Given the description of an element on the screen output the (x, y) to click on. 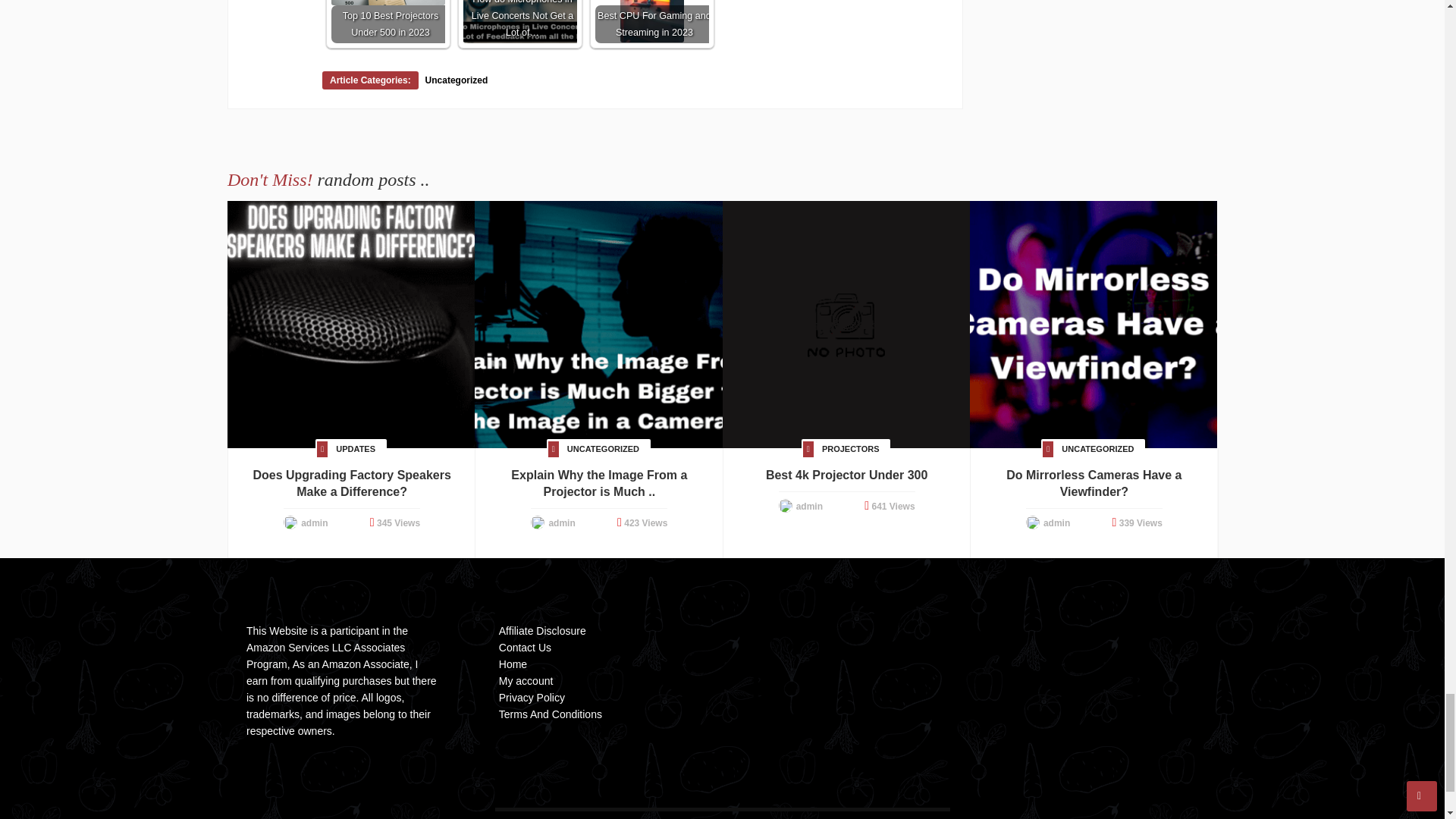
Posts by admin (809, 506)
Top 10 Best Projectors Under 500 in 2023 (388, 2)
Posts by admin (561, 522)
Posts by admin (314, 522)
Posts by admin (1056, 522)
Best CPU For Gaming and Streaming in 2023 (652, 21)
